Given the description of an element on the screen output the (x, y) to click on. 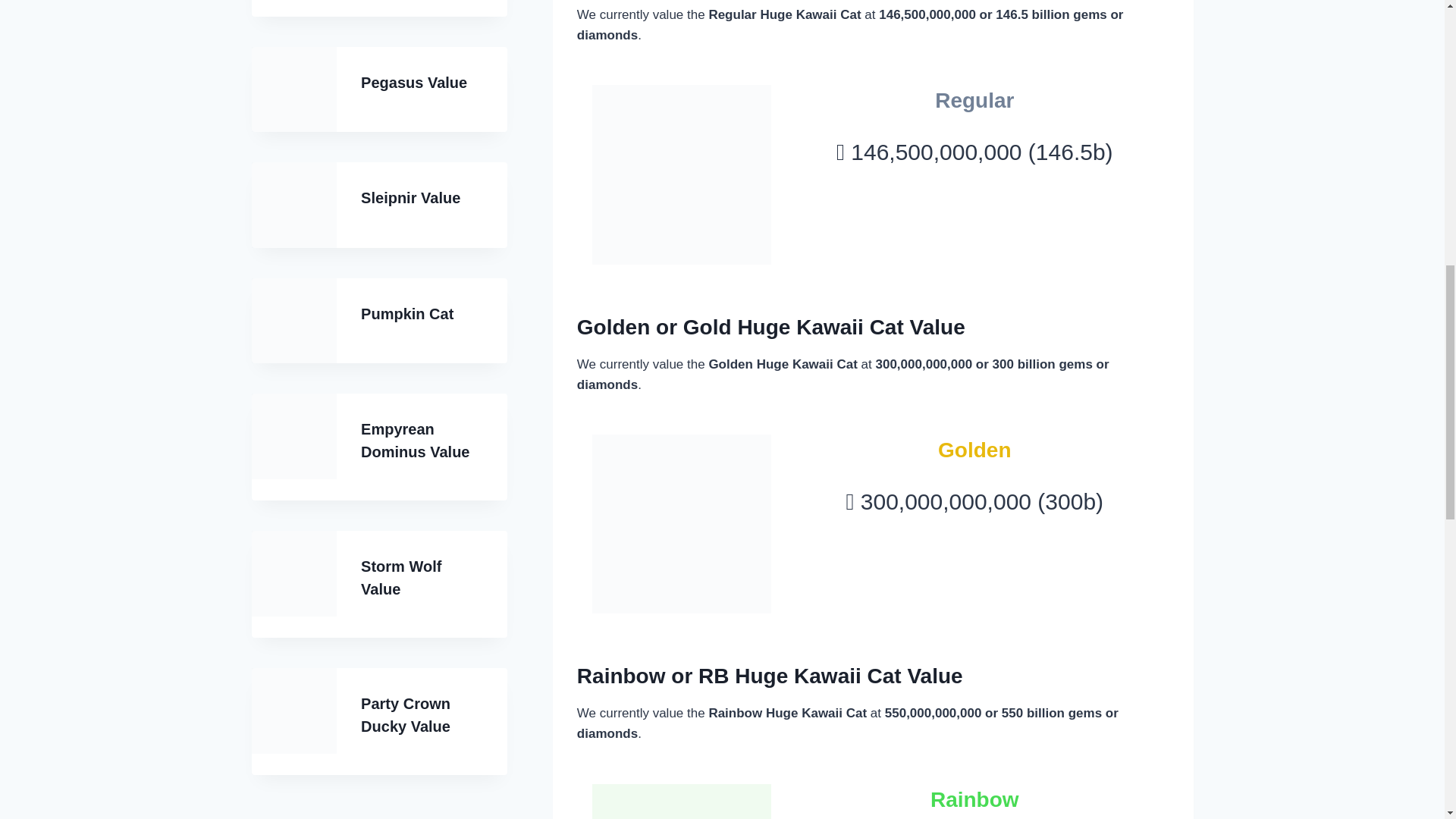
Storm Wolf Value (401, 577)
Party Crown Ducky Value (405, 714)
Pumpkin Cat (406, 313)
Empyrean Dominus Value (414, 440)
Pegasus Value (414, 82)
Sleipnir Value (410, 197)
